Given the description of an element on the screen output the (x, y) to click on. 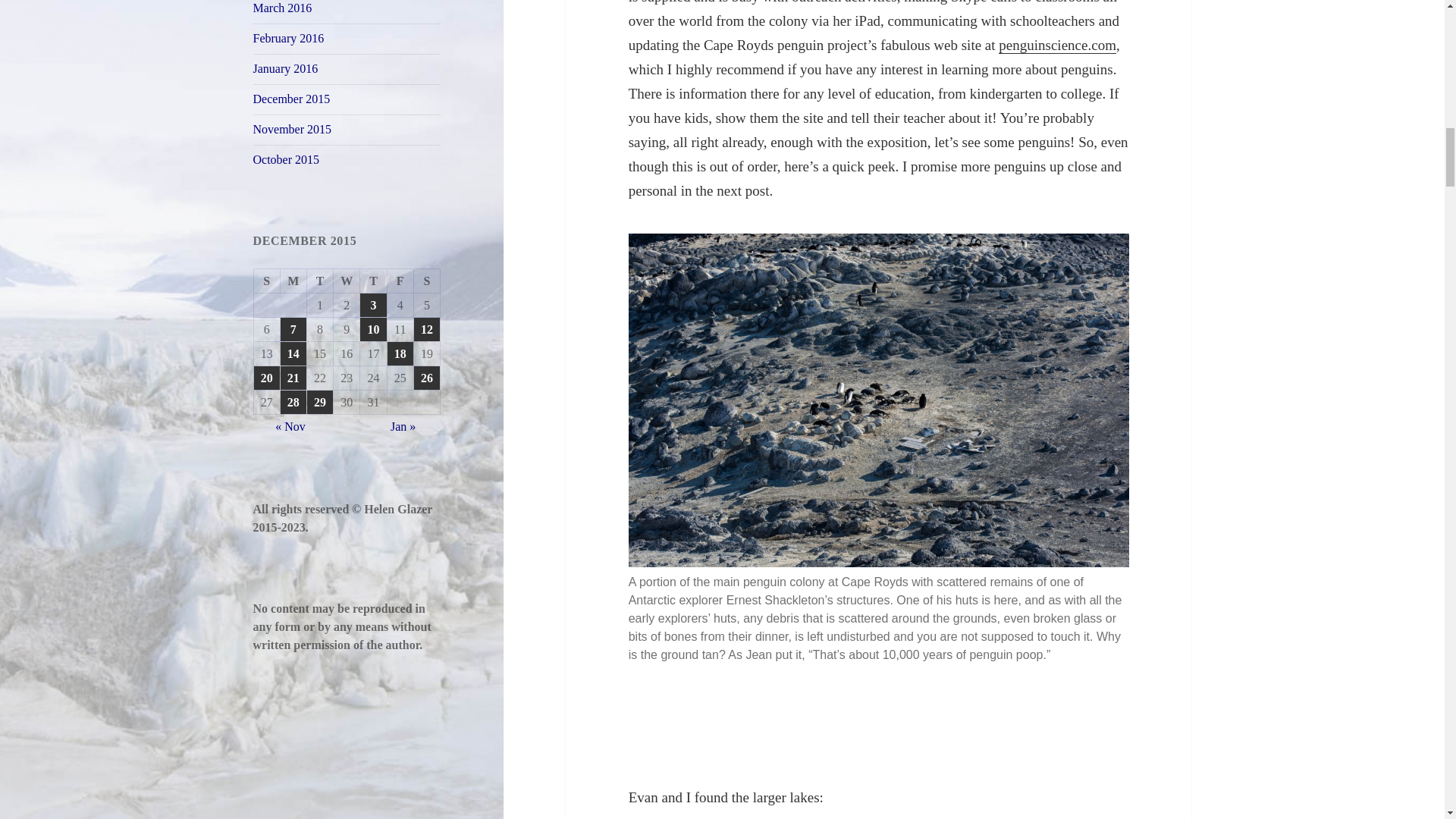
14 (293, 353)
January 2016 (285, 68)
March 2016 (283, 7)
26 (426, 377)
Saturday (427, 281)
Tuesday (320, 281)
Friday (400, 281)
December 2015 (291, 98)
November 2015 (292, 128)
3 (372, 304)
Monday (294, 281)
10 (372, 329)
Sunday (267, 281)
28 (293, 402)
7 (293, 329)
